Given the description of an element on the screen output the (x, y) to click on. 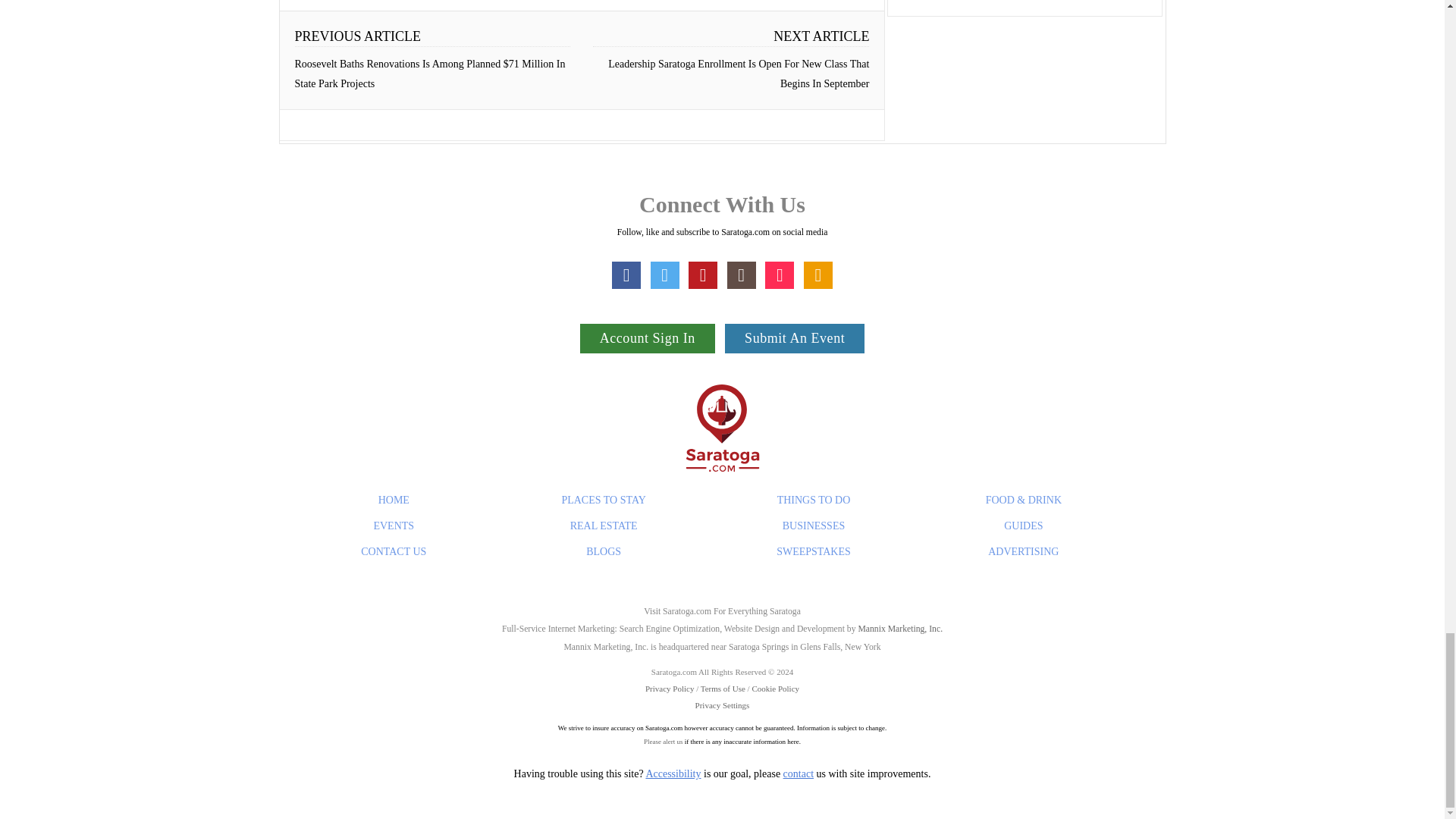
X (664, 275)
TikTok (779, 275)
My Planner (817, 275)
Instagram (740, 275)
Pinterest (702, 275)
Facebook (625, 275)
